Given the description of an element on the screen output the (x, y) to click on. 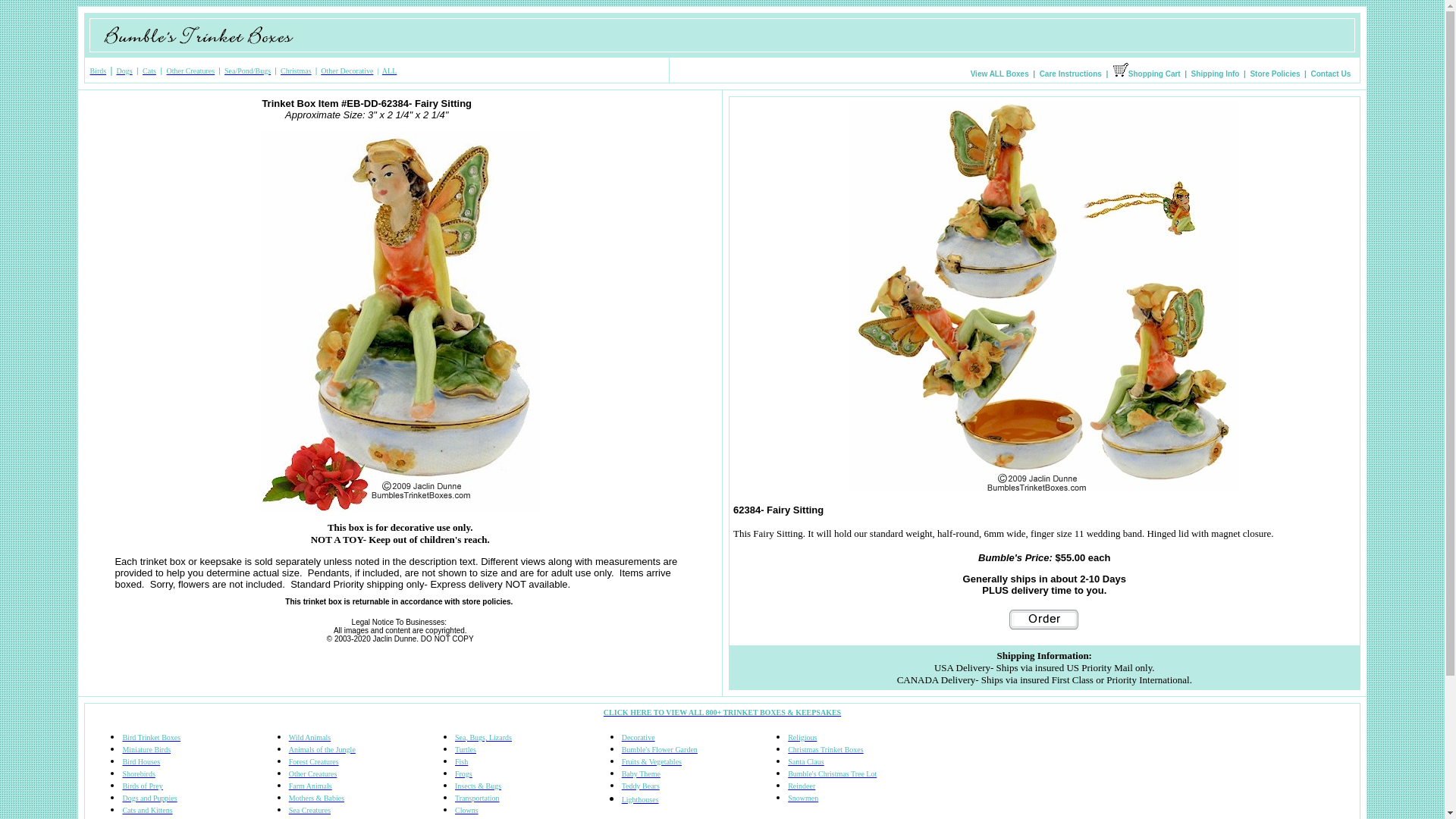
Bird Trinket Boxes (151, 737)
Frogs (462, 773)
Other Decorative (346, 70)
Sea, Bugs, Lizards (483, 737)
Birds of Prey (141, 786)
Shipping Info  (1216, 73)
Cats (148, 70)
Birds (97, 70)
Cats and Kittens (146, 809)
Store Policies (1274, 73)
Dogs (124, 70)
Care Instructions (1070, 73)
View ALL Boxes (1000, 73)
Dogs and Puppies (149, 797)
Animals of the Jungle (321, 749)
